Given the description of an element on the screen output the (x, y) to click on. 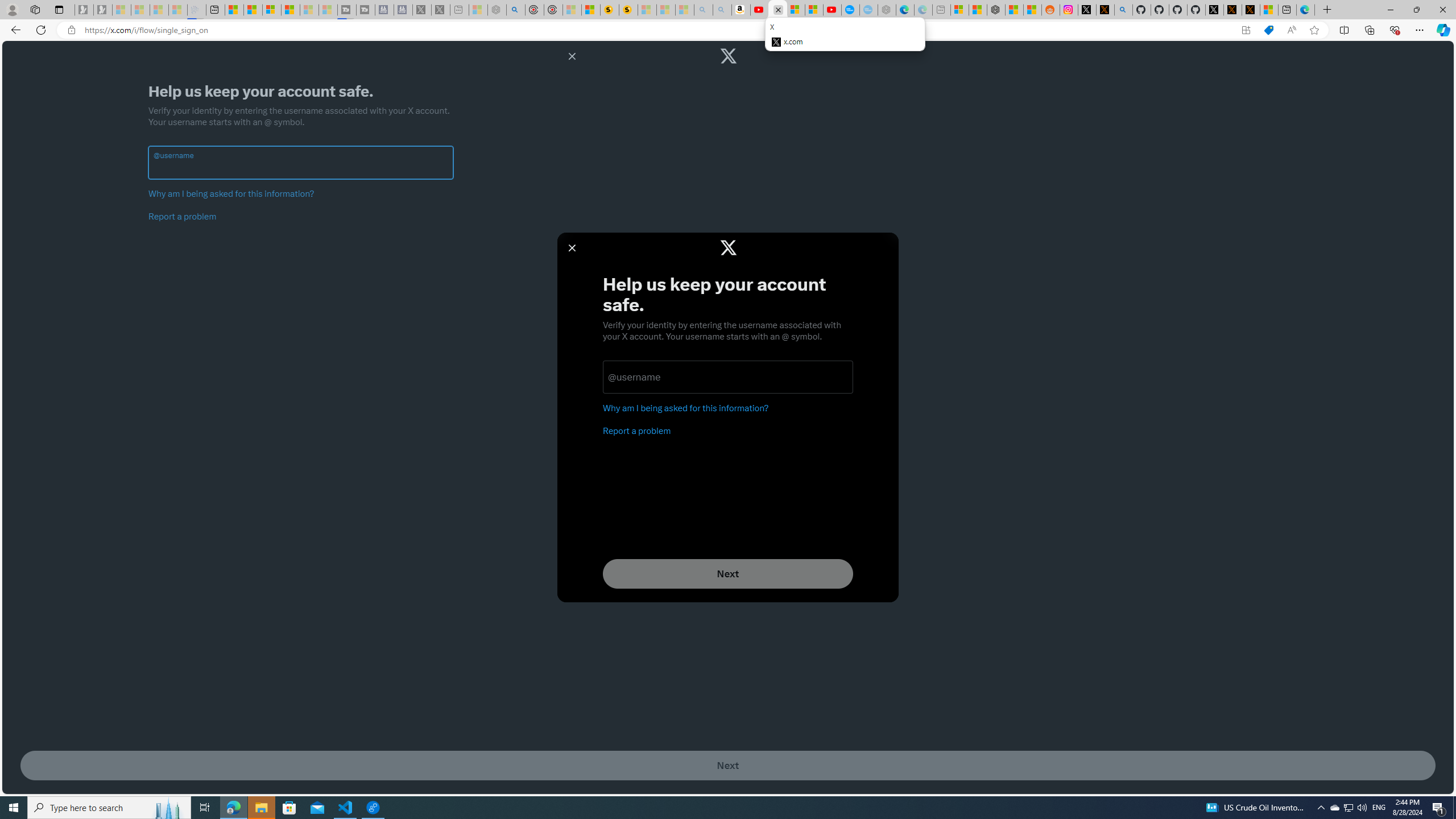
Report a problem (182, 216)
X Privacy Policy (1251, 9)
Welcome to Microsoft Edge (1305, 9)
Overview (271, 9)
Log in to X / X (1086, 9)
Day 1: Arriving in Yemen (surreal to be here) - YouTube (759, 9)
